Given the description of an element on the screen output the (x, y) to click on. 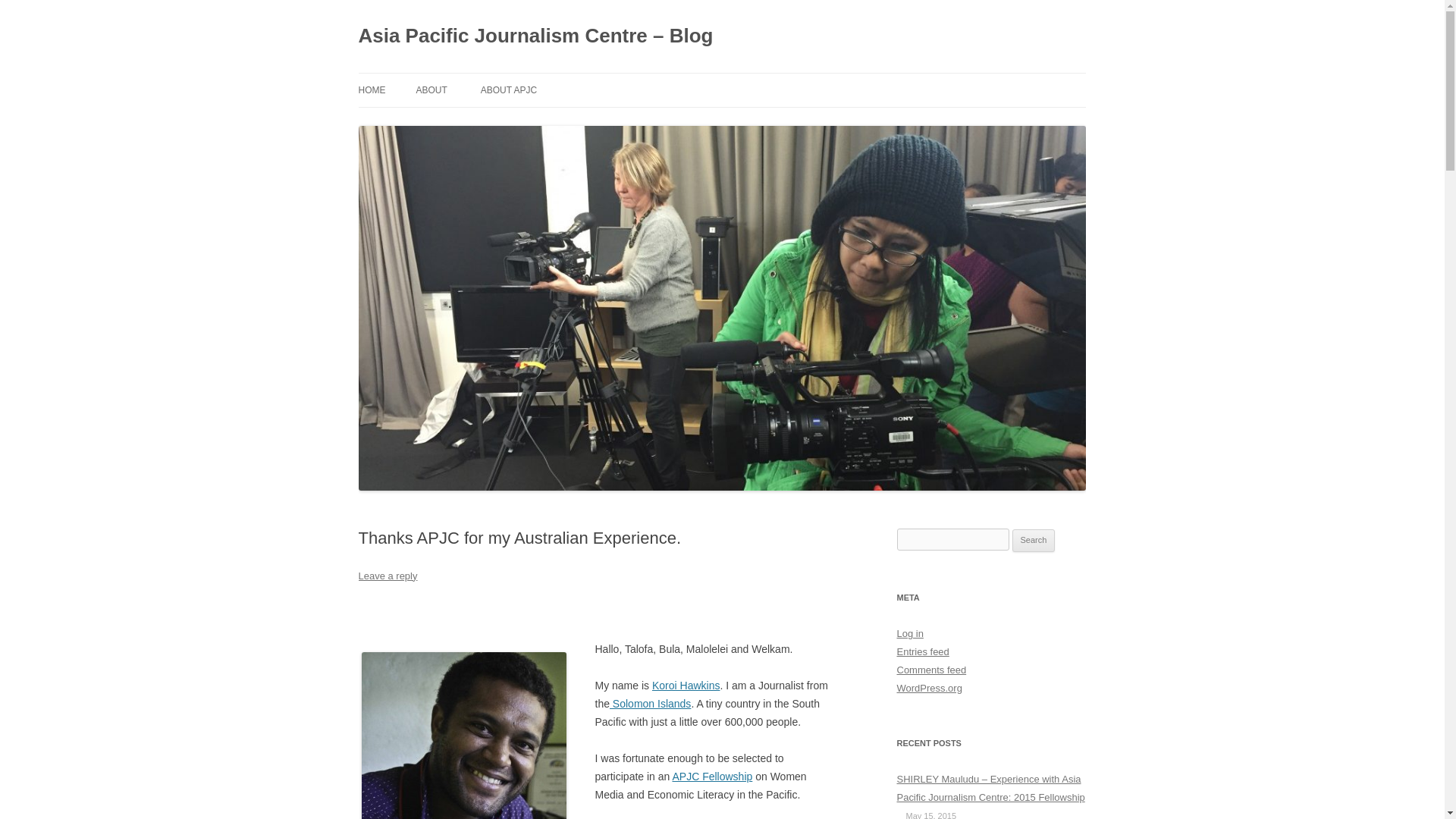
Leave a reply (387, 575)
ABOUT (430, 90)
WordPress.org (928, 687)
ABOUT APJC (508, 90)
Koroi Hawkins Linked in Profile (685, 685)
Koroi Hawkins (685, 685)
Log in (909, 633)
Solomon Islands Wikipedia (650, 703)
APJC Fellowship (711, 776)
Asia Pacific Journalism Centre (711, 776)
Comments feed (931, 669)
Entries feed (922, 651)
Search (1033, 540)
Solomon Islands (650, 703)
